Given the description of an element on the screen output the (x, y) to click on. 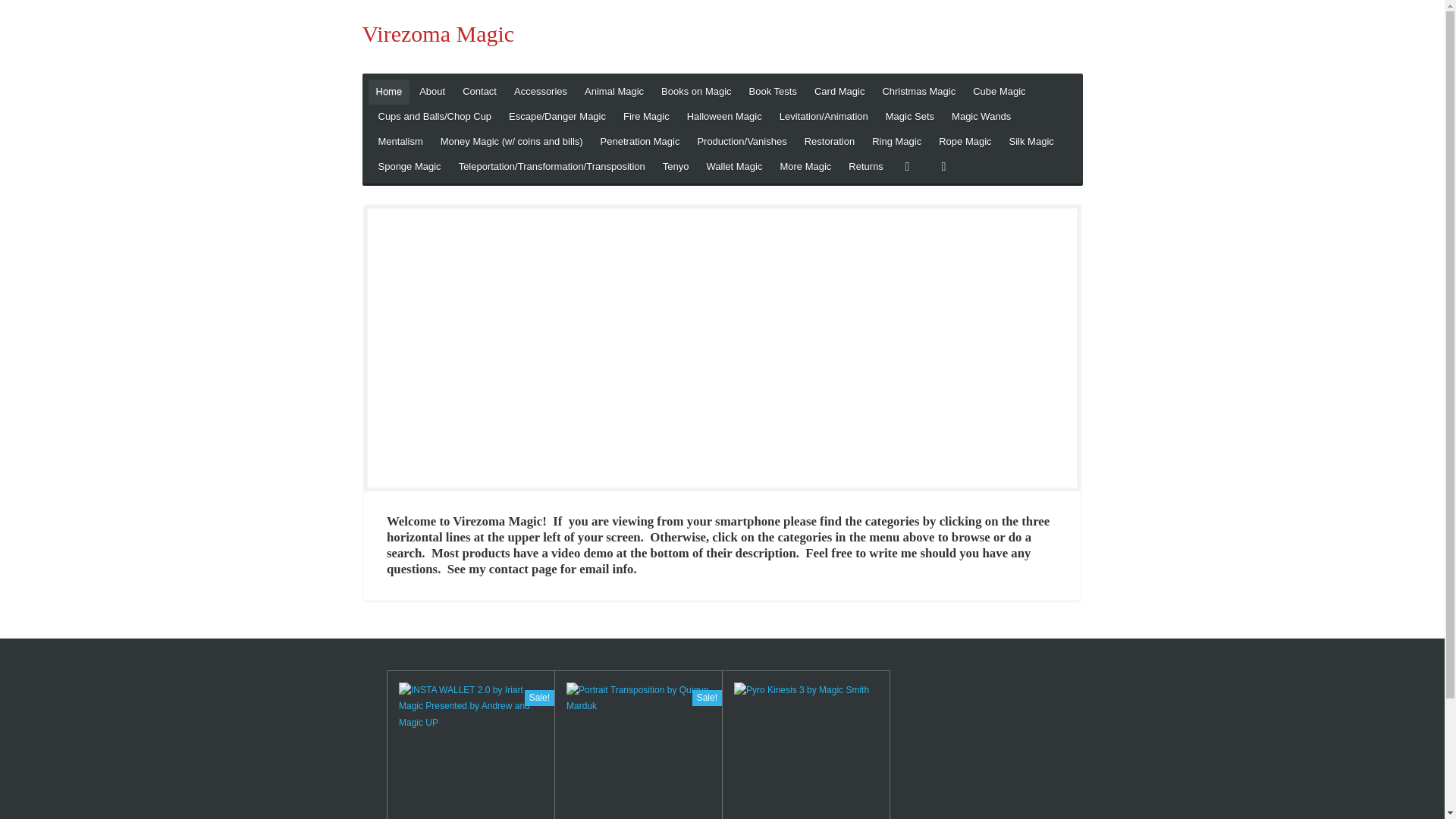
Accessories (540, 91)
Books on Magic (696, 91)
Restoration (828, 141)
Returns (866, 166)
Christmas Magic (918, 91)
Animal Magic (613, 91)
Ring Magic (896, 141)
Contact (478, 91)
Home (389, 91)
Magic Sets (909, 116)
